Given the description of an element on the screen output the (x, y) to click on. 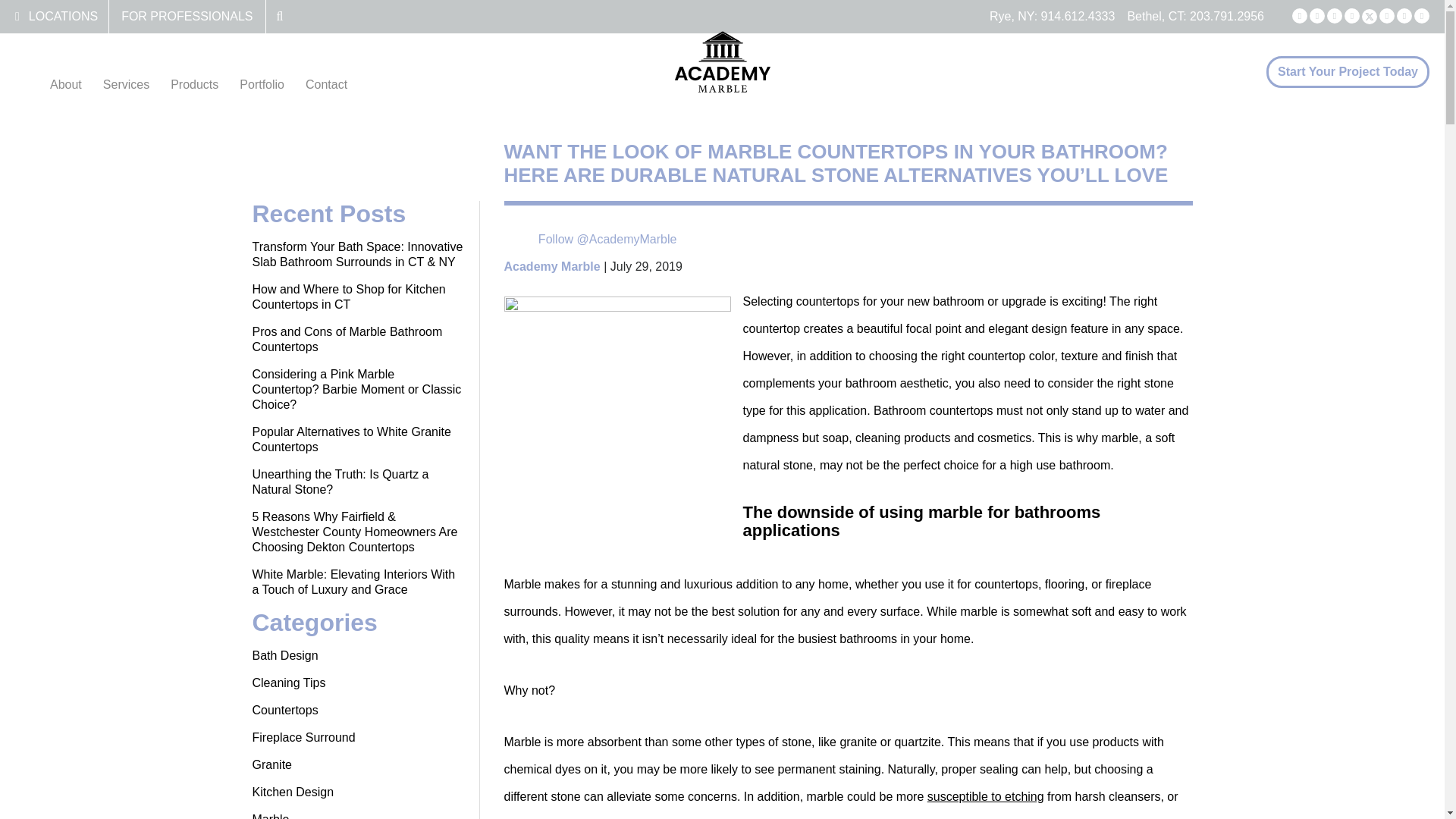
FOR PROFESSIONALS (185, 15)
203.791.2956 (1226, 15)
LOCATIONS (63, 15)
914.612.4333 (1078, 15)
